Given the description of an element on the screen output the (x, y) to click on. 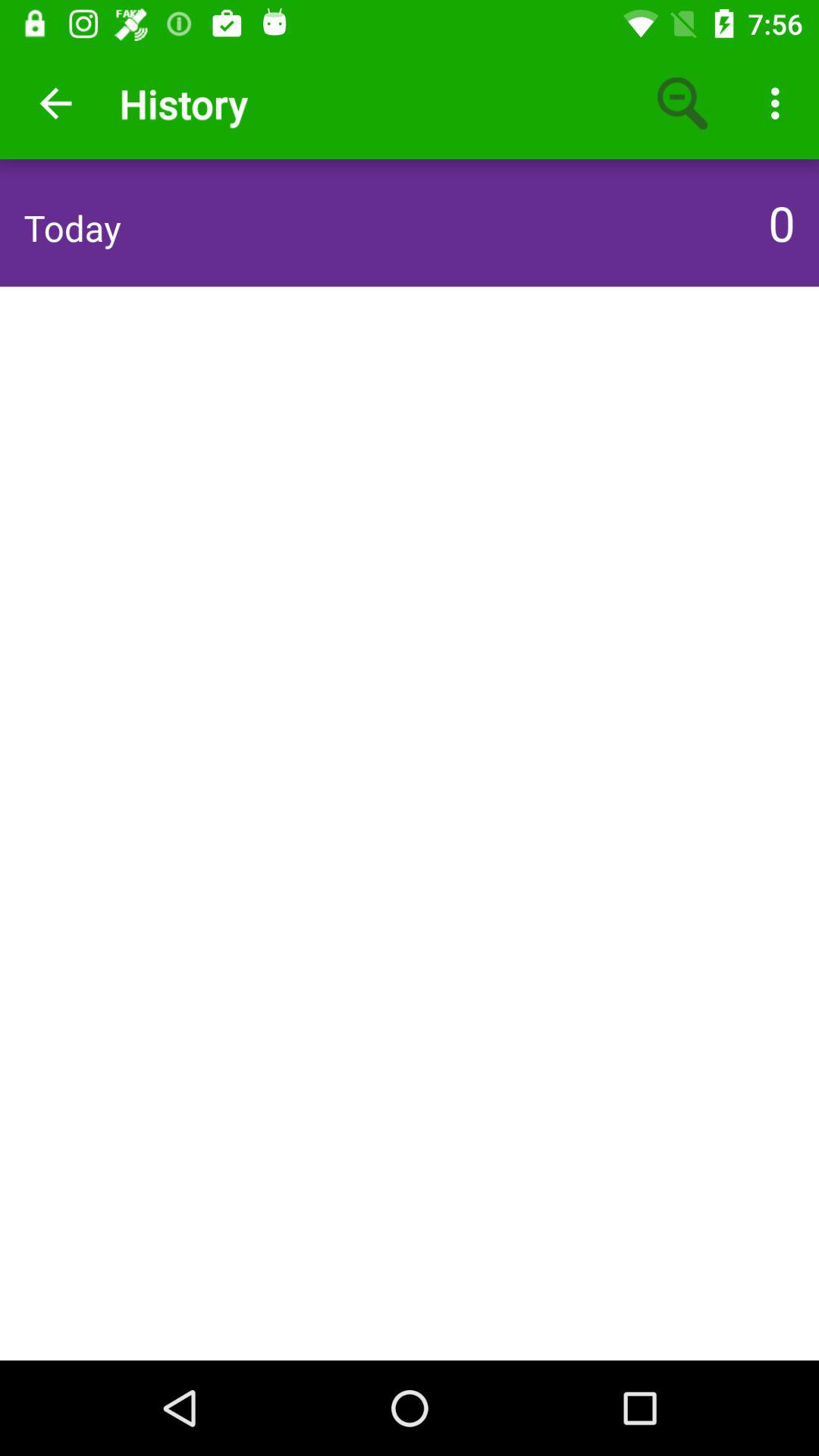
press the today item (72, 227)
